Given the description of an element on the screen output the (x, y) to click on. 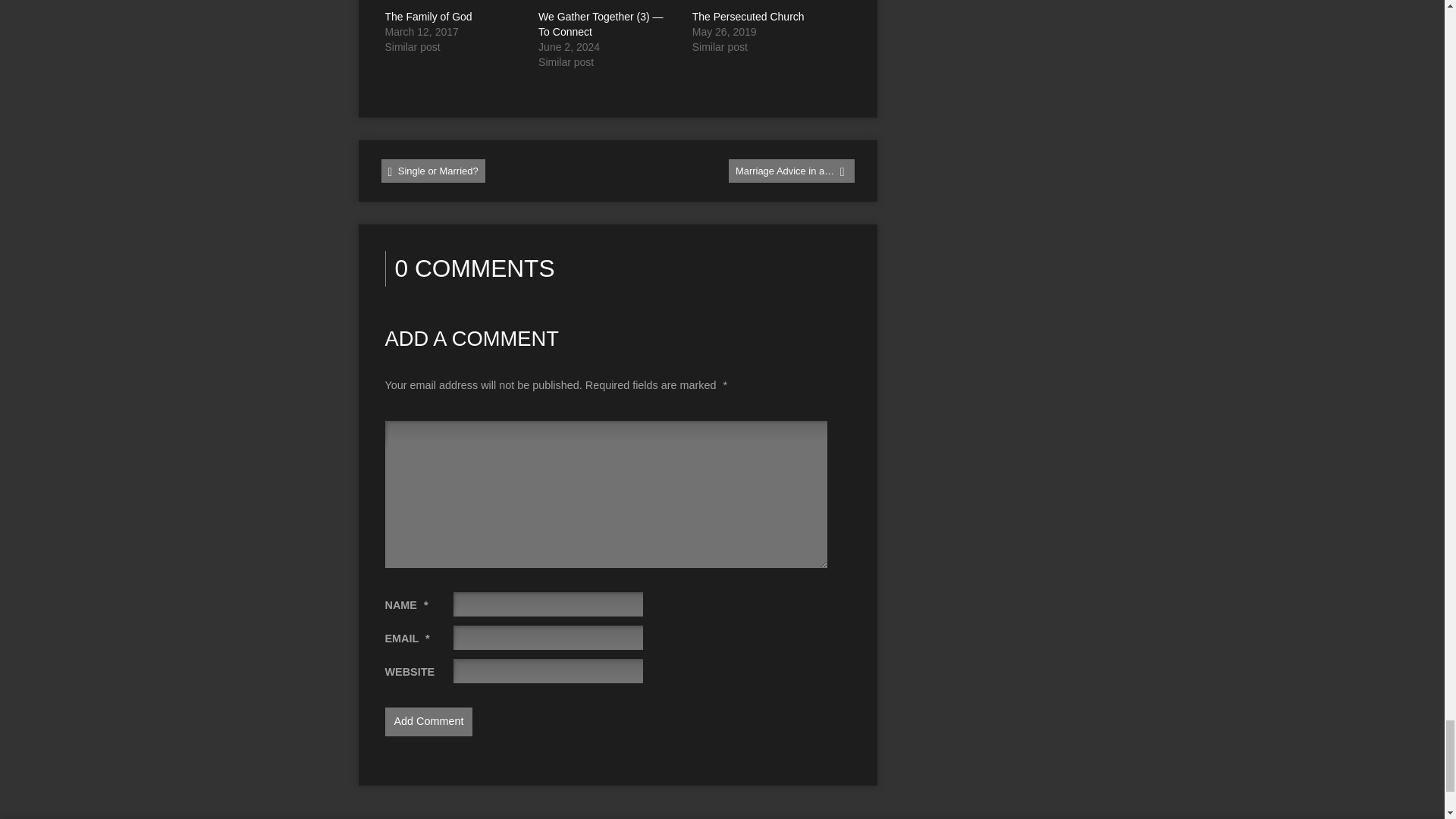
The Family of God (428, 16)
The Family of God (428, 16)
The Persecuted Church (749, 16)
Add Comment (429, 721)
